Given the description of an element on the screen output the (x, y) to click on. 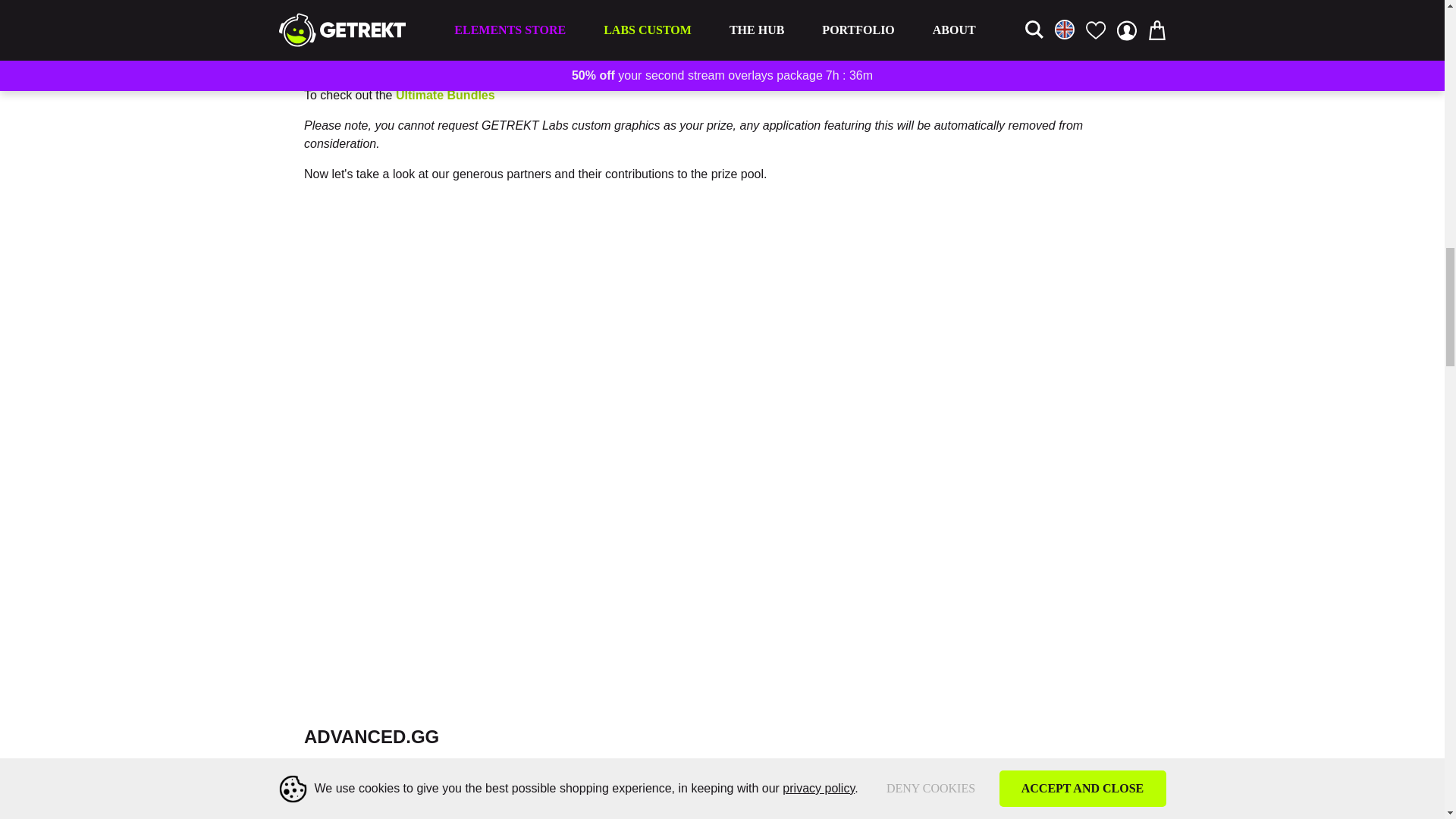
Ultimate Bundles (445, 94)
Ultimate Stream Overlay Bundles (445, 94)
